Given the description of an element on the screen output the (x, y) to click on. 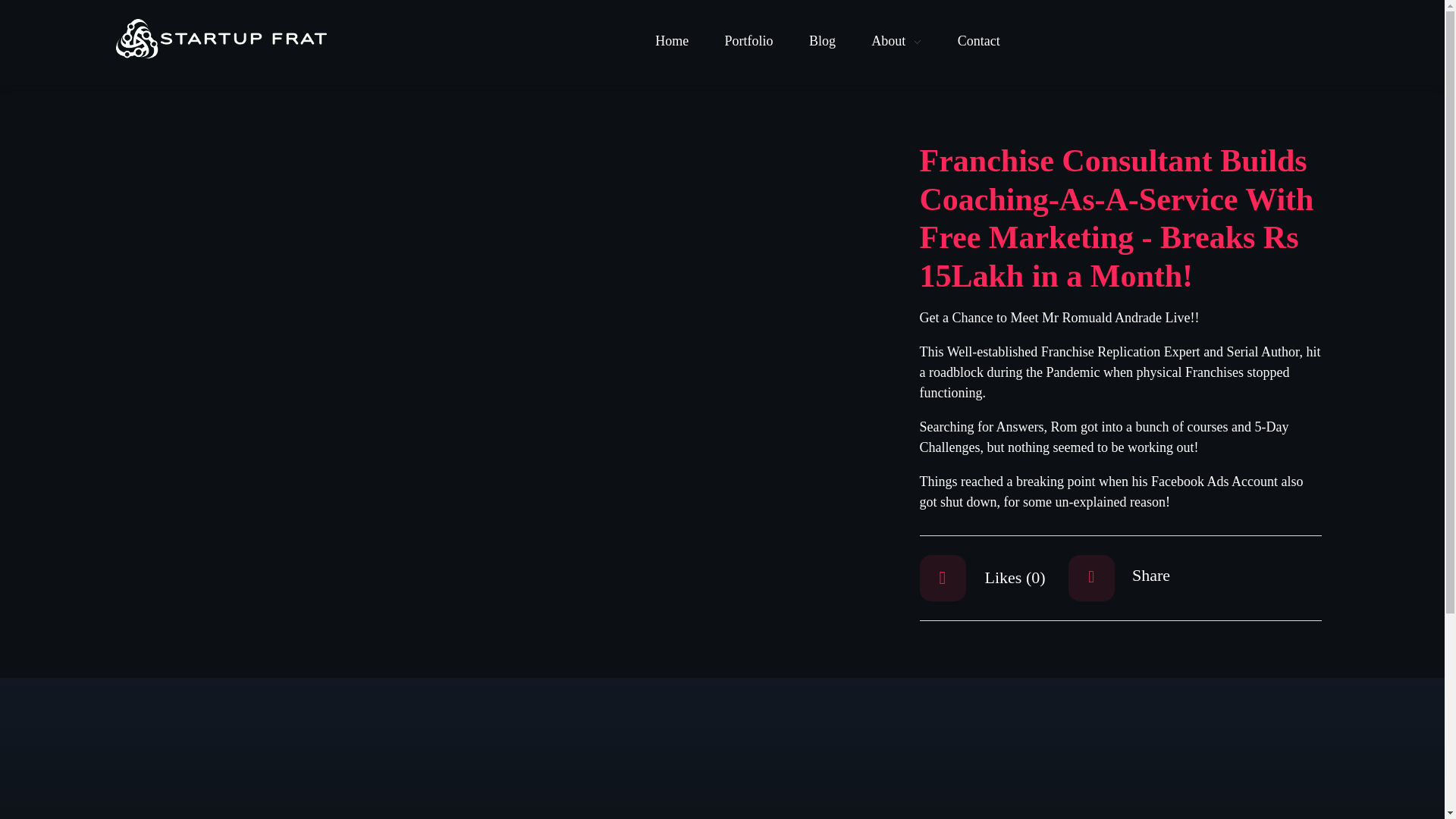
Startup Frat (207, 37)
Home (680, 41)
Startup Frat (154, 67)
Blog (821, 41)
Portfolio (748, 41)
Contact (969, 41)
Startup Frat (138, 68)
About (896, 41)
